Given the description of an element on the screen output the (x, y) to click on. 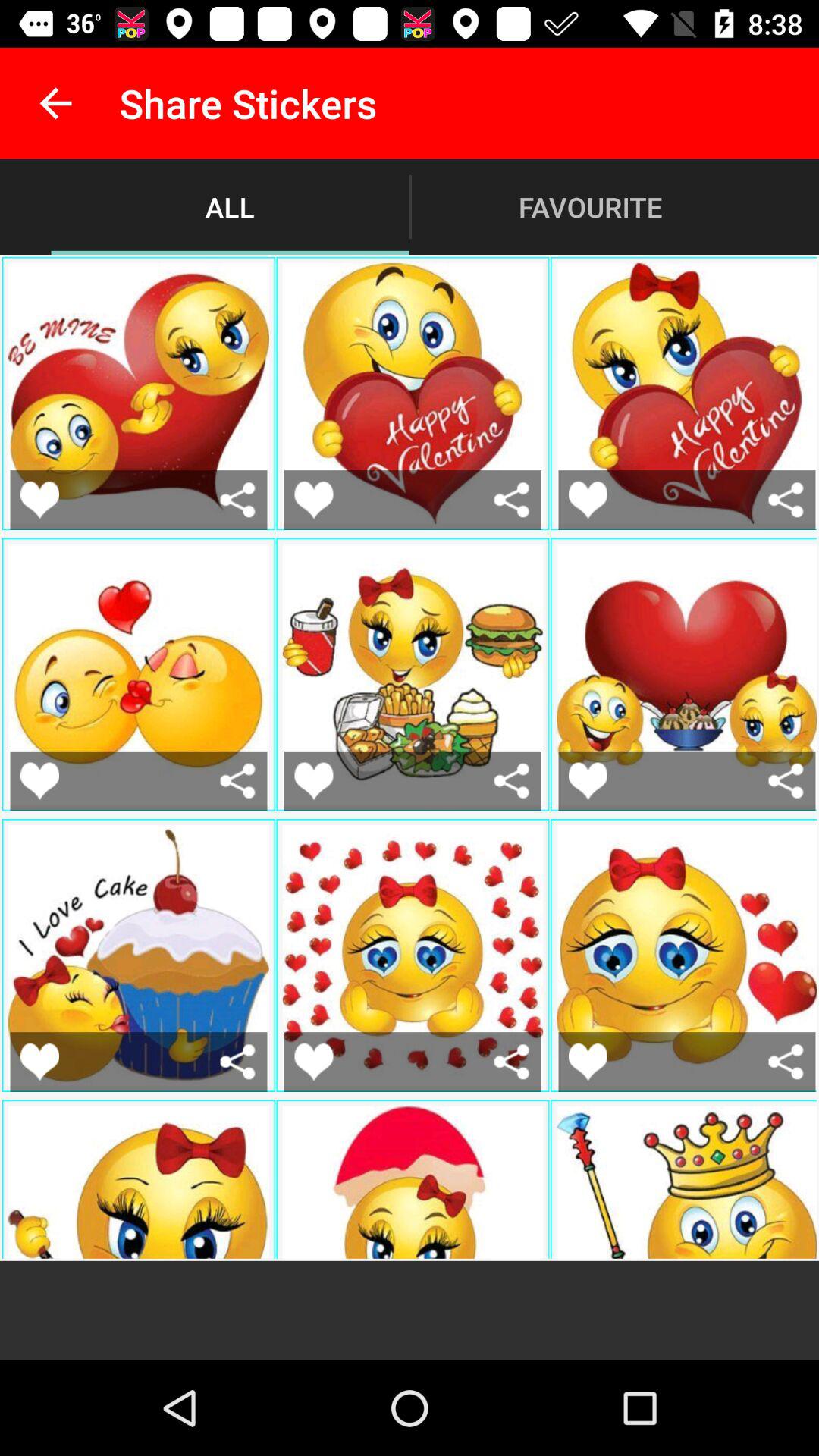
love this sticker (587, 780)
